Given the description of an element on the screen output the (x, y) to click on. 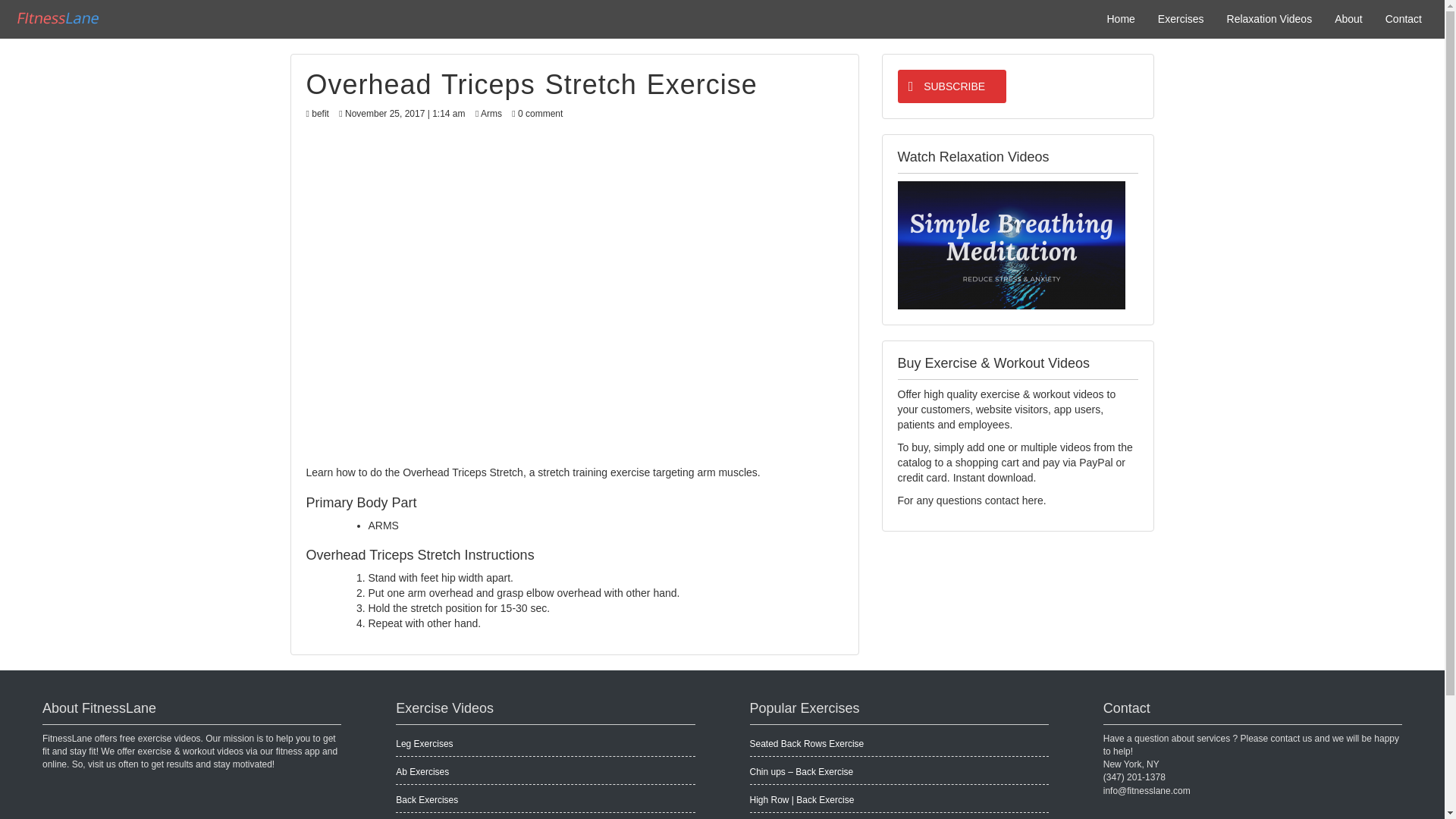
Exercises (1181, 18)
Contact (1403, 18)
contact here (1014, 500)
0 comment (540, 113)
About (1348, 18)
Back Exercises (427, 799)
Ab Exercises (422, 771)
Arms (491, 113)
Home (1119, 18)
Contact (1403, 18)
SUBSCRIBE (952, 86)
Exercises (1181, 18)
About (1348, 18)
Relaxation Videos (1269, 18)
Seated Back Rows Exercise (806, 743)
